Given the description of an element on the screen output the (x, y) to click on. 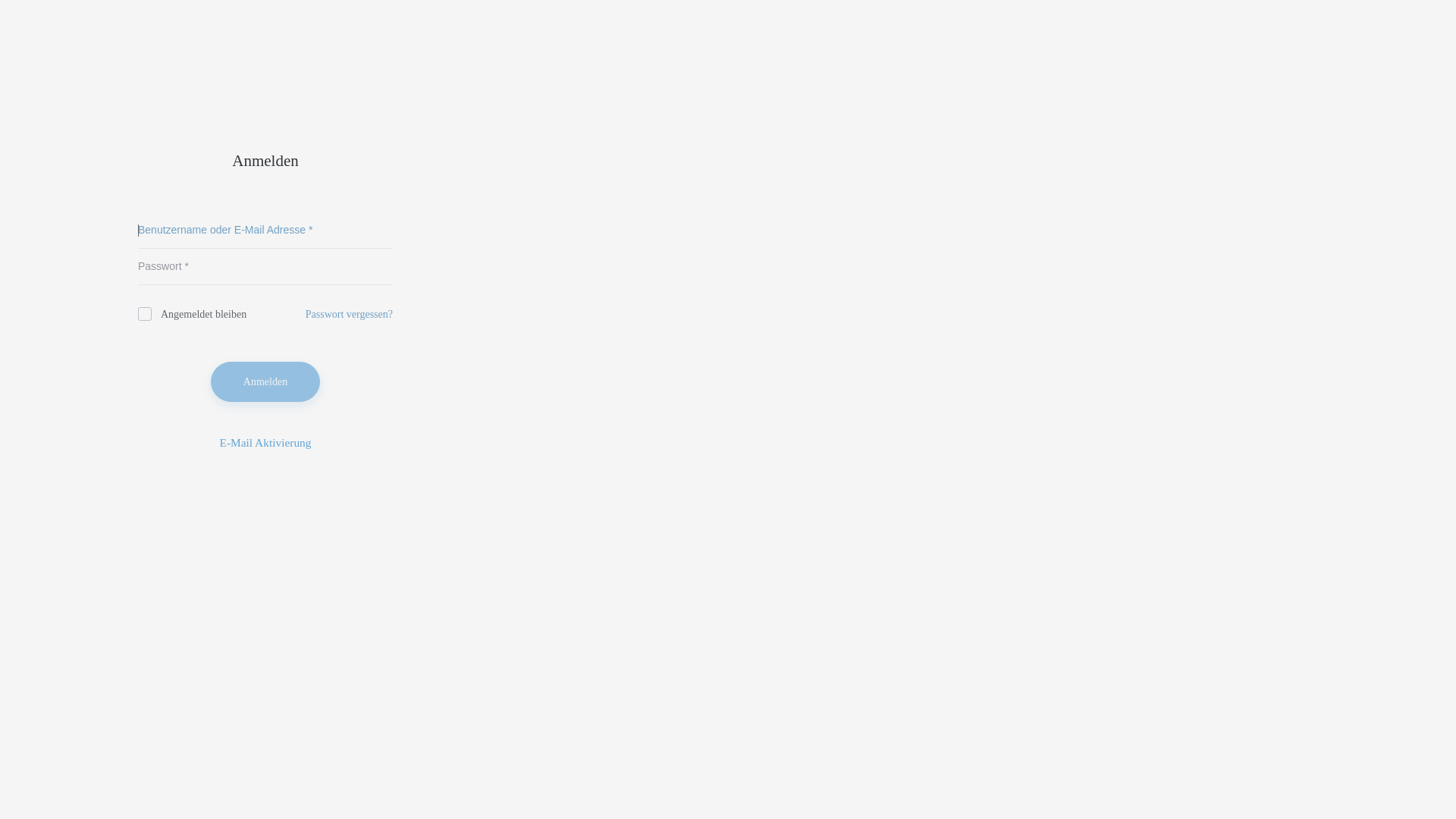
Deutsch Element type: hover (247, 483)
Italiano Element type: hover (283, 486)
English Element type: hover (259, 484)
